Given the description of an element on the screen output the (x, y) to click on. 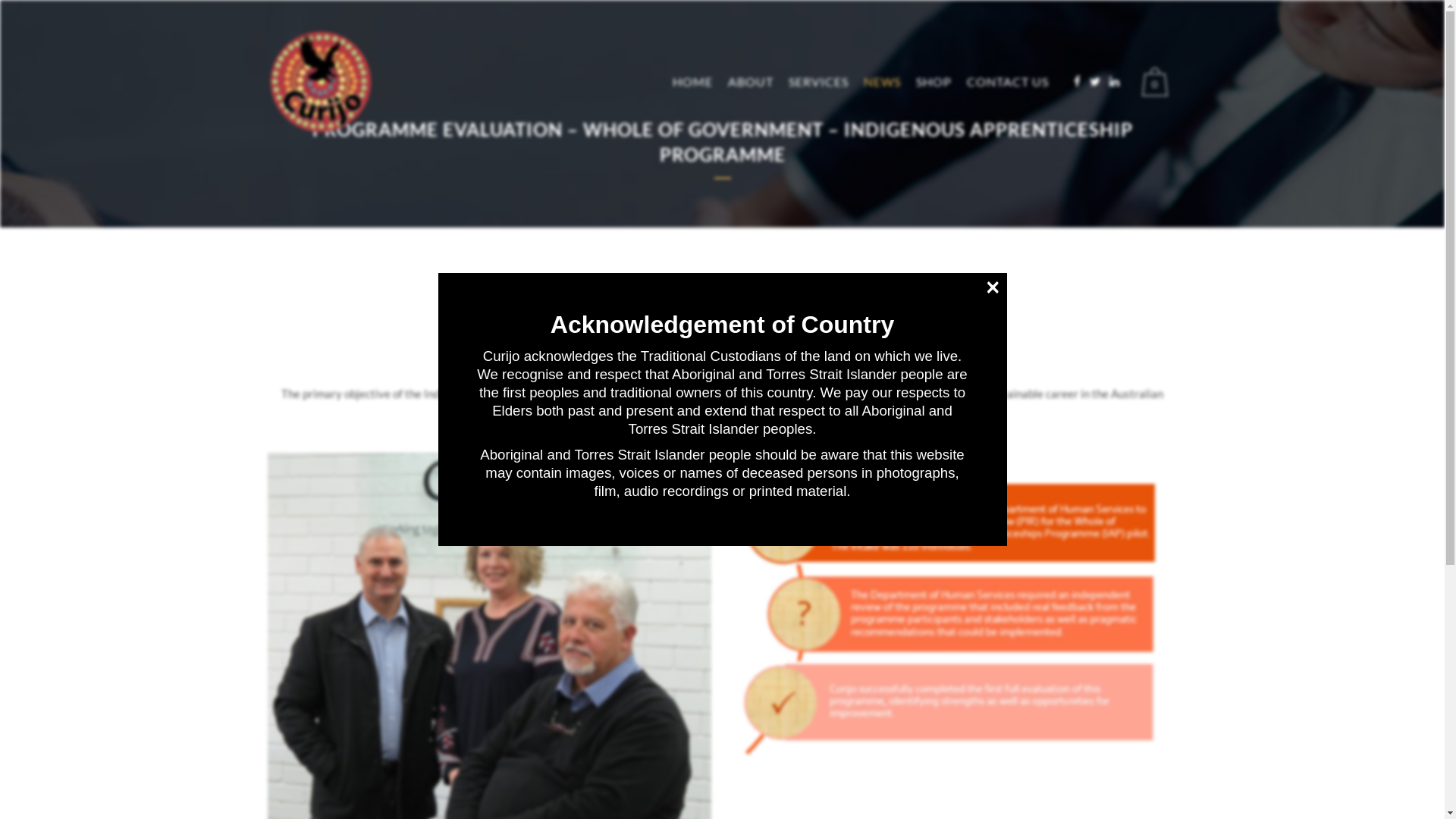
program-evaluation Element type: hover (949, 610)
NEWS Element type: text (881, 81)
SHOP Element type: text (933, 81)
SERVICES Element type: text (818, 81)
ABOUT Element type: text (750, 81)
0 Element type: text (1158, 81)
CONTACT US Element type: text (1006, 81)
HOME Element type: text (691, 81)
